Given the description of an element on the screen output the (x, y) to click on. 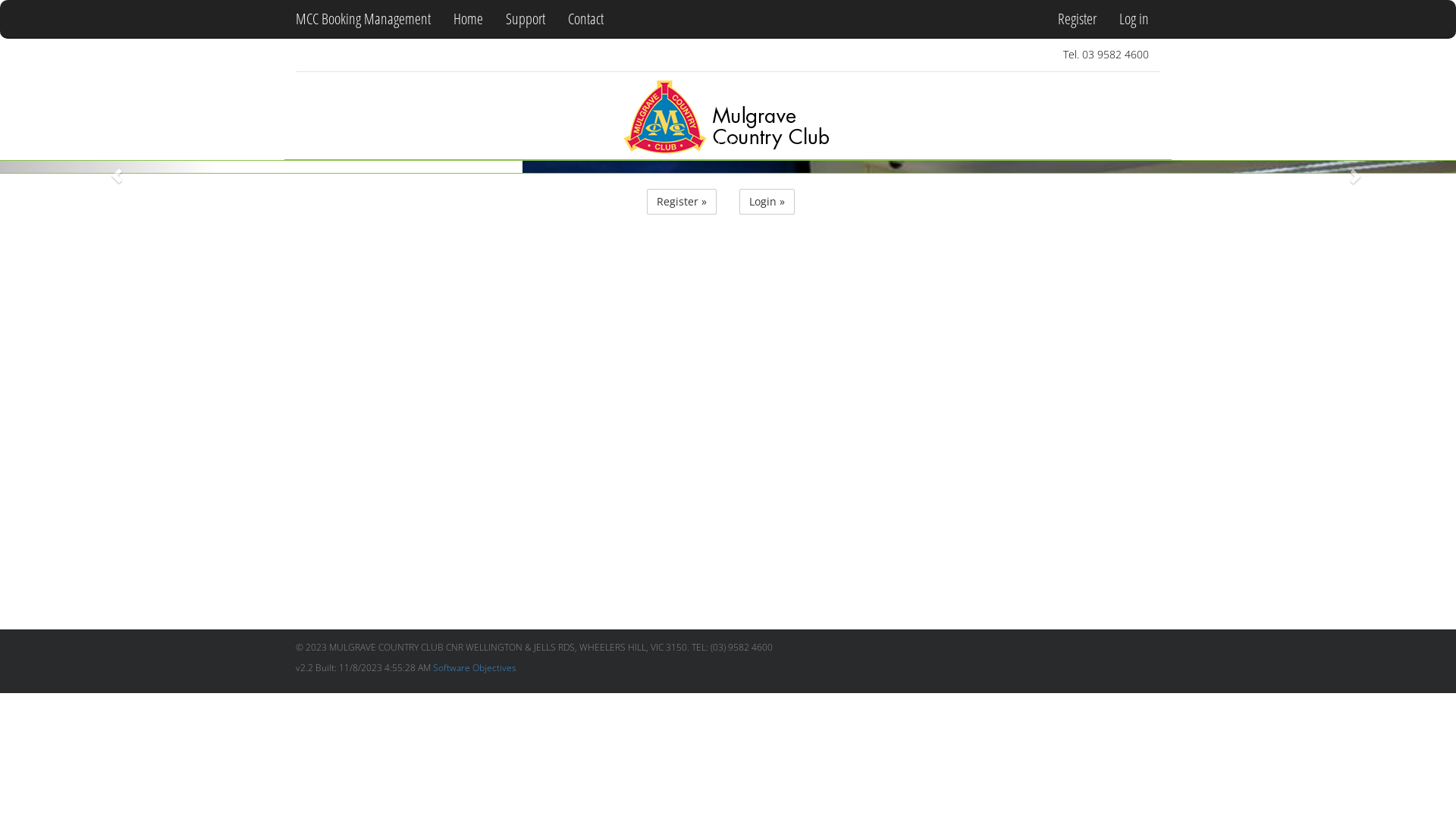
Support Element type: text (525, 18)
Home Element type: text (468, 18)
MCC Booking Management Element type: text (363, 18)
Contact Element type: text (585, 18)
Software Objectives Element type: text (474, 667)
Register Element type: text (1076, 18)
Log in Element type: text (1133, 18)
